Given the description of an element on the screen output the (x, y) to click on. 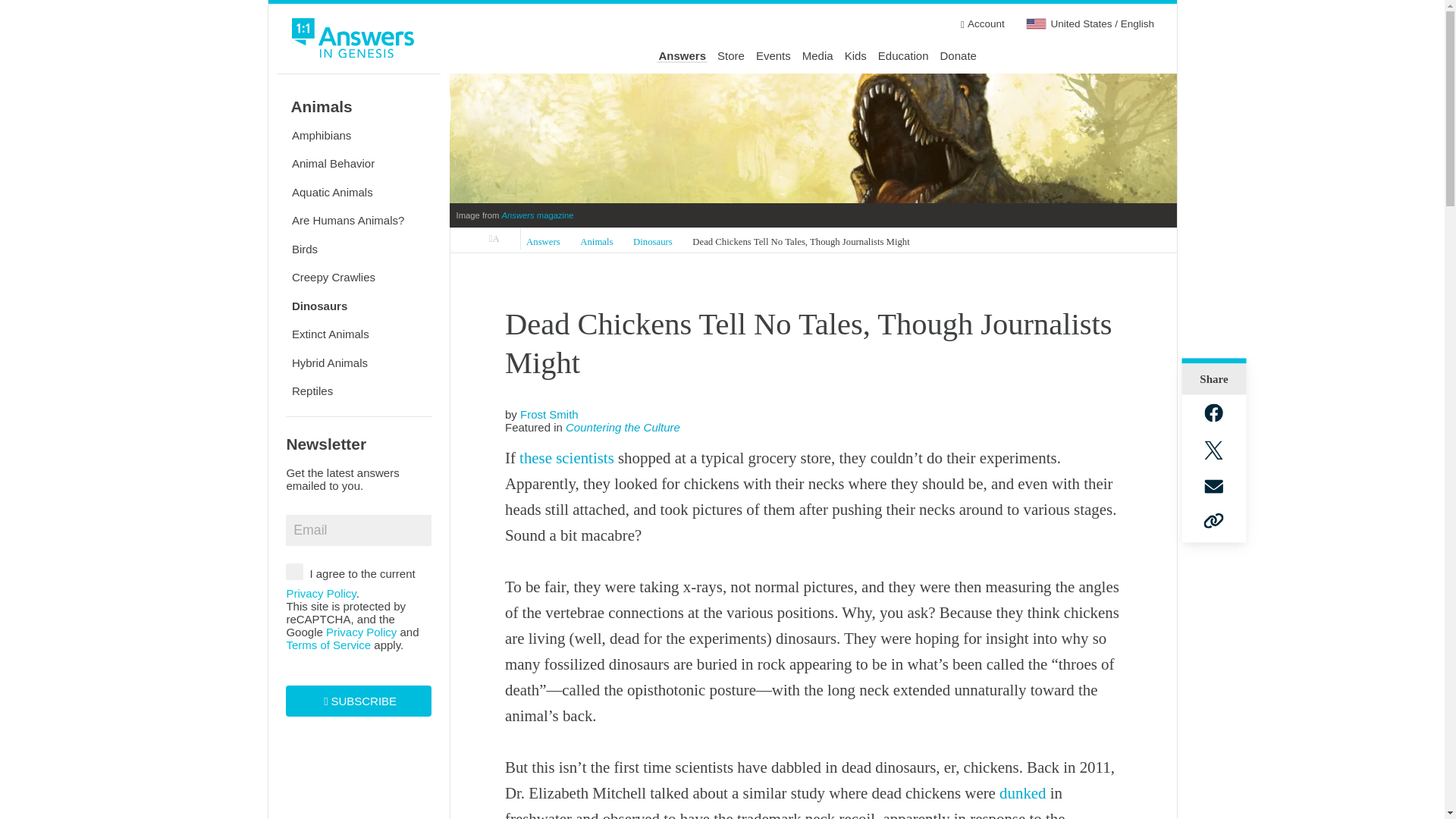
these scientists (566, 457)
Animals (596, 241)
Kids (855, 55)
Answers in Genesis (494, 238)
Answers (543, 241)
Store (731, 55)
Media (817, 55)
Answers in Genesis Home (353, 40)
Frost Smith (548, 413)
Countering the Culture (622, 427)
Store (731, 55)
Dinosaurs (652, 241)
Answers (681, 55)
Answers magazine (537, 215)
Events (772, 55)
